Given the description of an element on the screen output the (x, y) to click on. 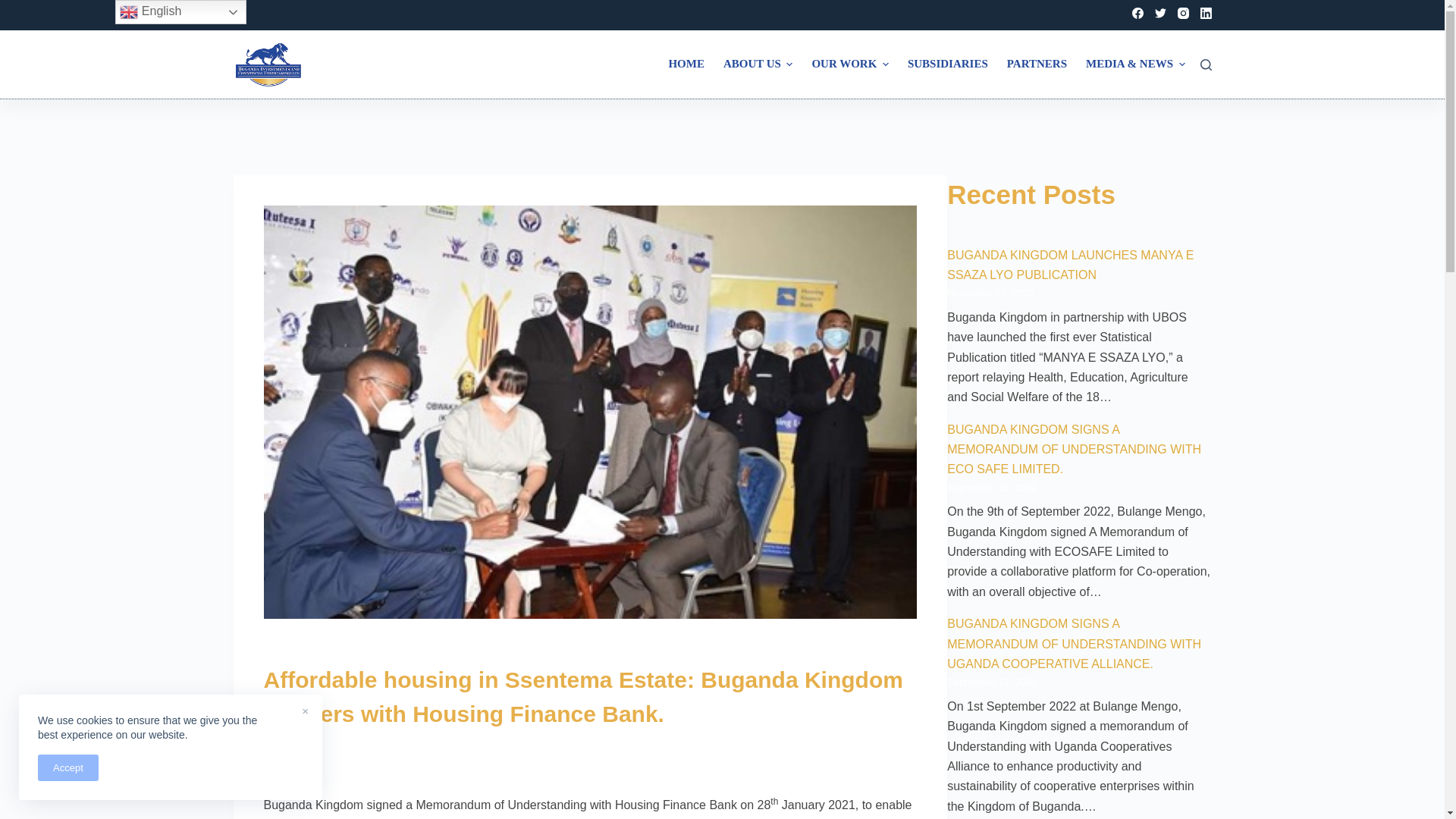
BUGANDA KINGDOM LAUNCHES MANYA E SSAZA LYO PUBLICATION (1070, 264)
ABOUT US (757, 64)
Posts by realsaleh (317, 755)
SUBSIDIARIES (947, 64)
REALSALEH (317, 755)
Skip to content (15, 7)
PARTNERS (1036, 64)
OUR WORK (850, 64)
NEWS (473, 755)
